Given the description of an element on the screen output the (x, y) to click on. 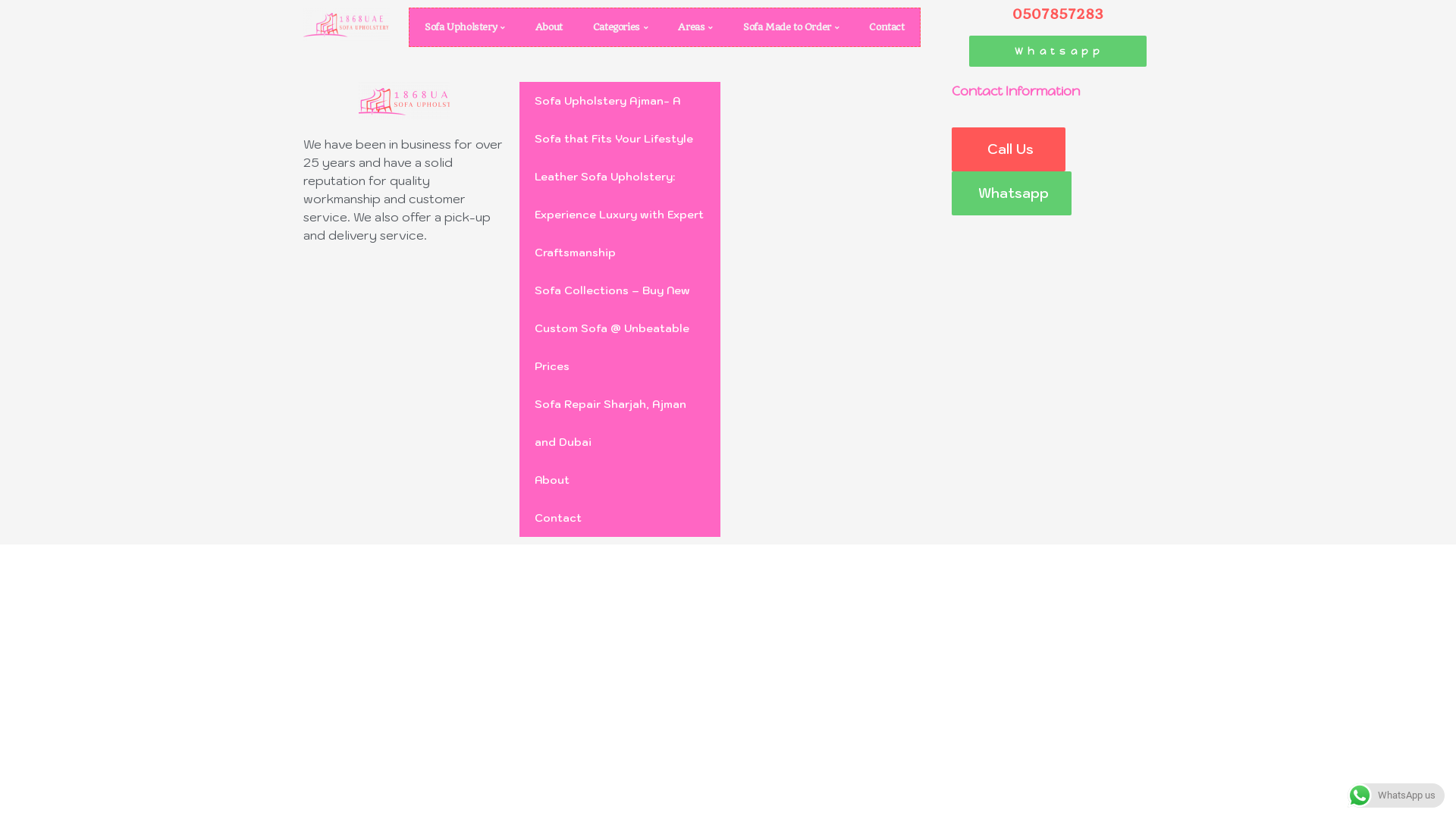
1868UAE LOGO Horizontal Element type: hover (346, 23)
Sofa Made to Order Element type: text (790, 27)
Contact Element type: text (619, 517)
About Element type: text (548, 27)
Whatsapp Element type: text (1011, 193)
Sofa Repair Sharjah, Ajman and Dubai Element type: text (619, 423)
Whatsapp Element type: text (1057, 50)
Call Us Element type: text (1008, 149)
0507857283 Element type: text (1057, 13)
1868UAE LOGO Horizontal Element type: hover (402, 100)
Contact Element type: text (886, 27)
Categories Element type: text (620, 27)
About Element type: text (619, 479)
Areas Element type: text (695, 27)
Sofa Upholstery Ajman- A Sofa that Fits Your Lifestyle Element type: text (619, 119)
Sofa Upholstery Element type: text (464, 27)
